Given the description of an element on the screen output the (x, y) to click on. 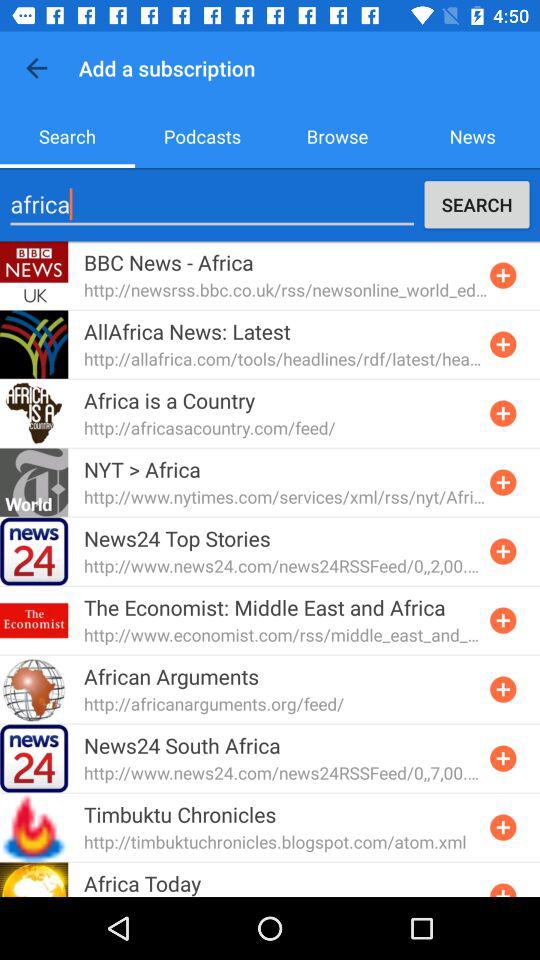
add button (503, 275)
